Given the description of an element on the screen output the (x, y) to click on. 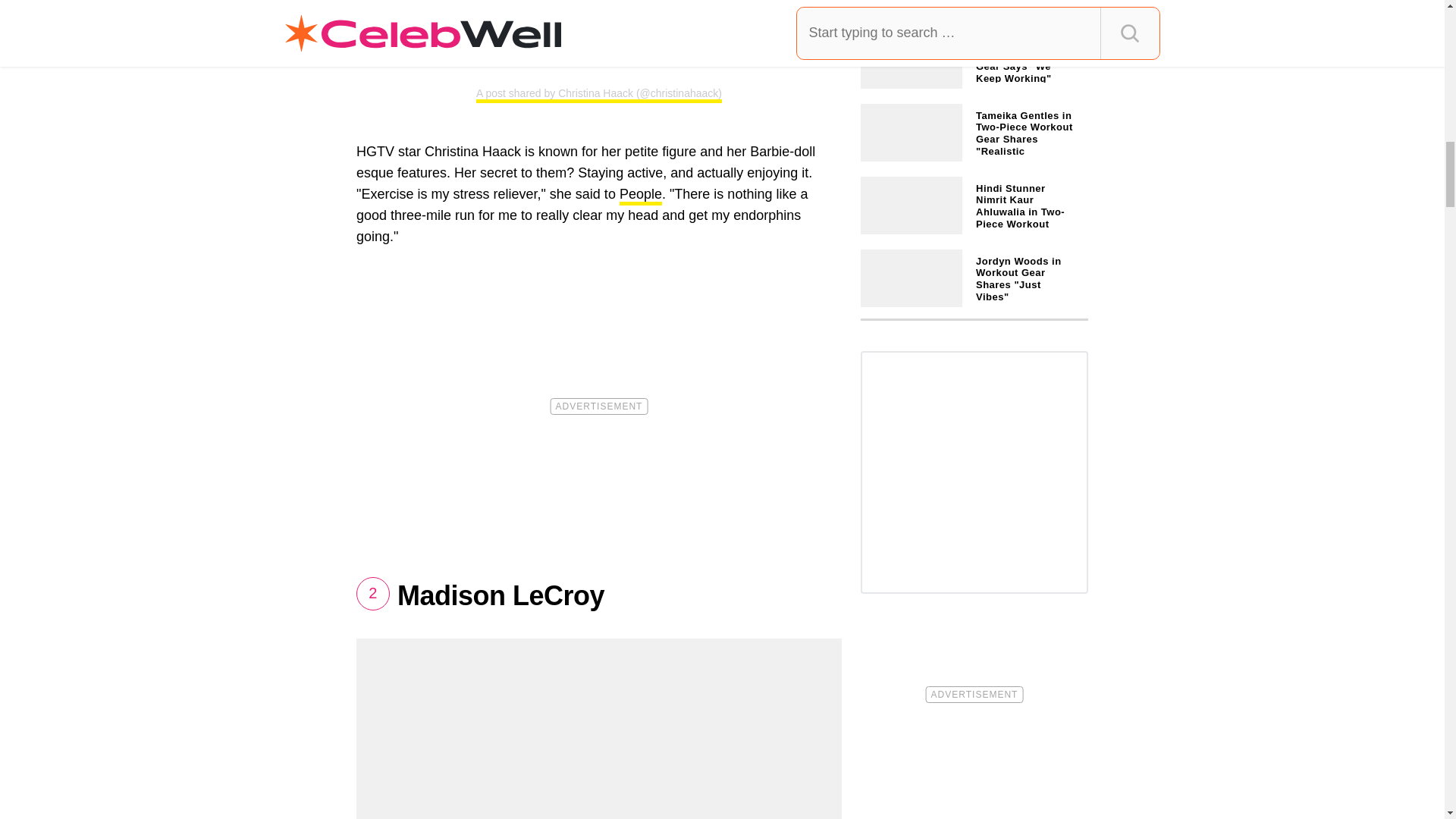
View this post on Instagram (598, 31)
People (641, 195)
